Given the description of an element on the screen output the (x, y) to click on. 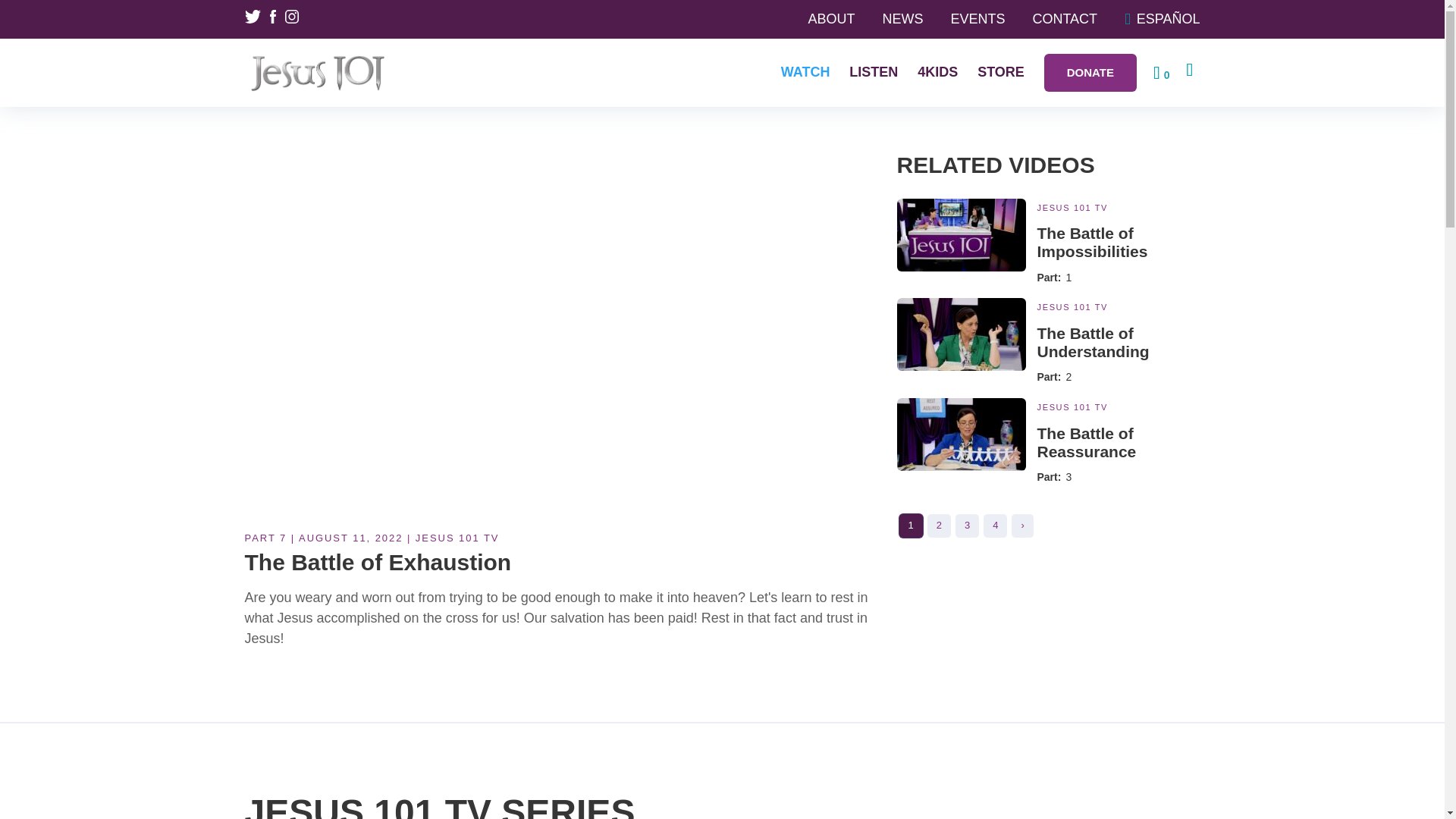
3 (967, 525)
WATCH (804, 71)
The Battle of Understanding (1093, 342)
JESUS 101 TV (1072, 207)
Jesus 101 TV (1072, 307)
Go to page 2 (939, 525)
NEWS (902, 18)
The Battle of Impossibilities (1092, 242)
STORE (1000, 71)
Jesus 101 TV (1072, 406)
DONATE (1090, 72)
ABOUT (831, 18)
Go to page 4 (994, 525)
Go to next page (1021, 525)
The Battle of Reassurance (1086, 442)
